Given the description of an element on the screen output the (x, y) to click on. 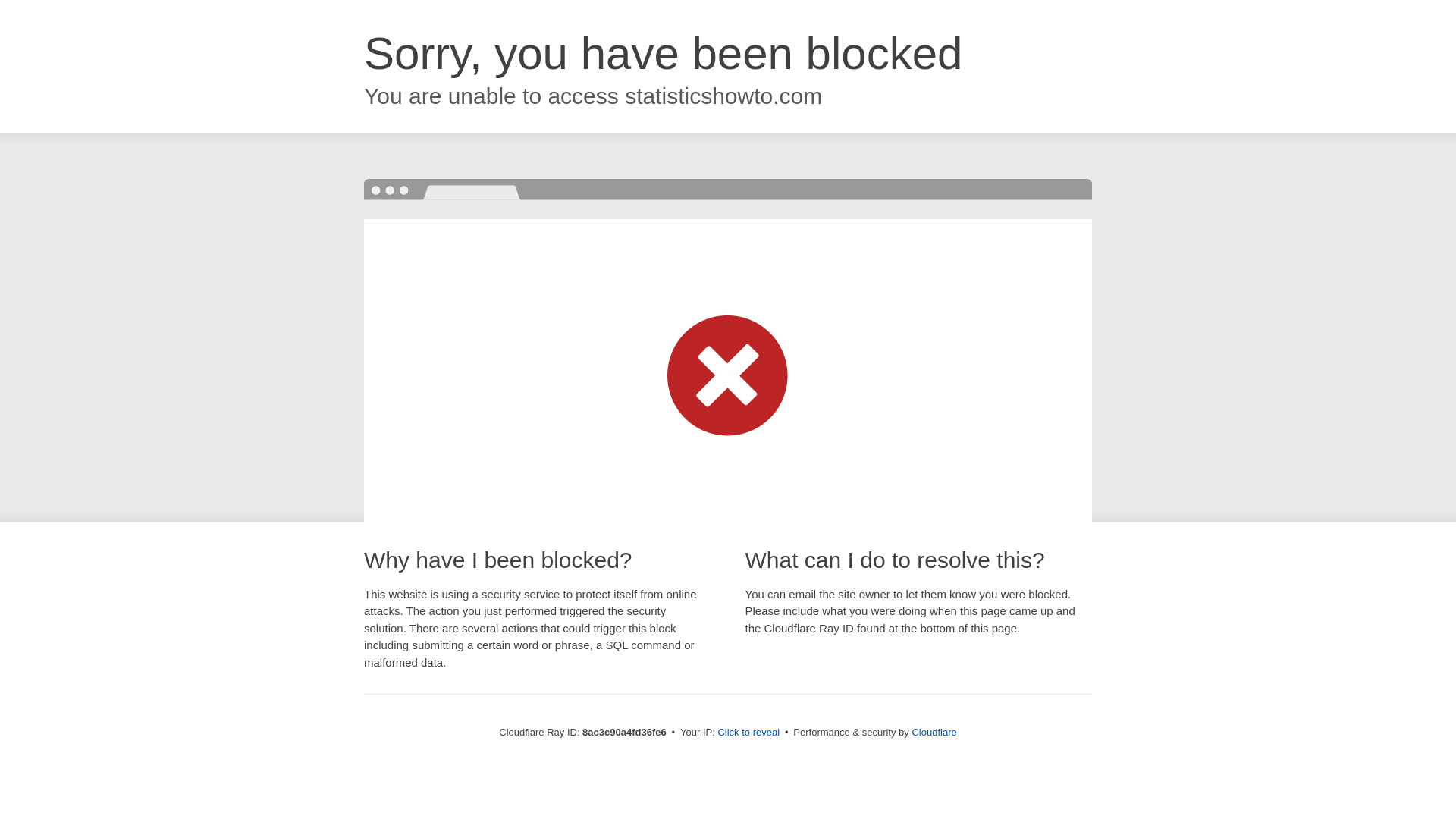
Click to reveal (747, 732)
Cloudflare (933, 731)
